Given the description of an element on the screen output the (x, y) to click on. 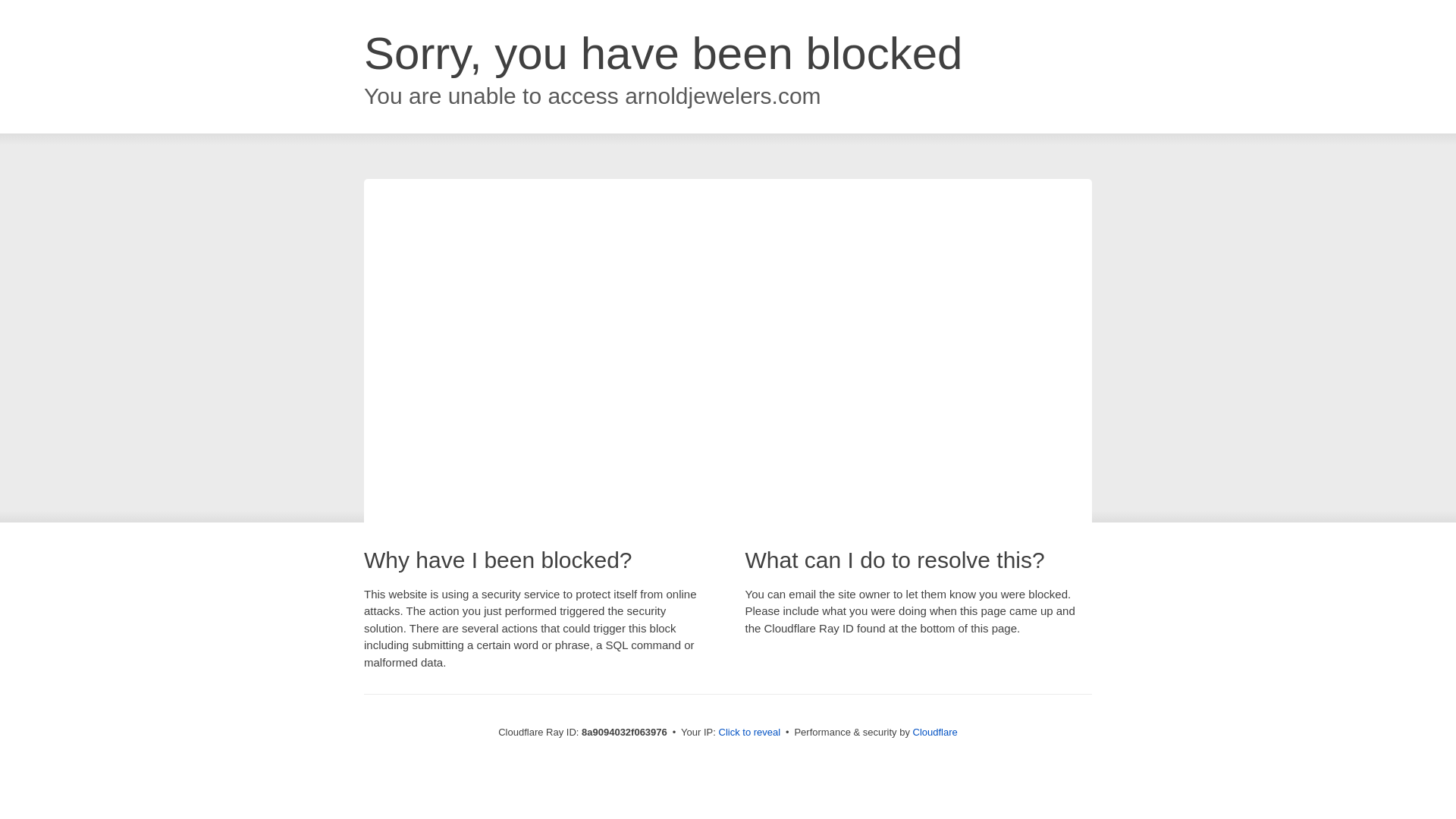
Click to reveal (749, 732)
Cloudflare (935, 731)
